Given the description of an element on the screen output the (x, y) to click on. 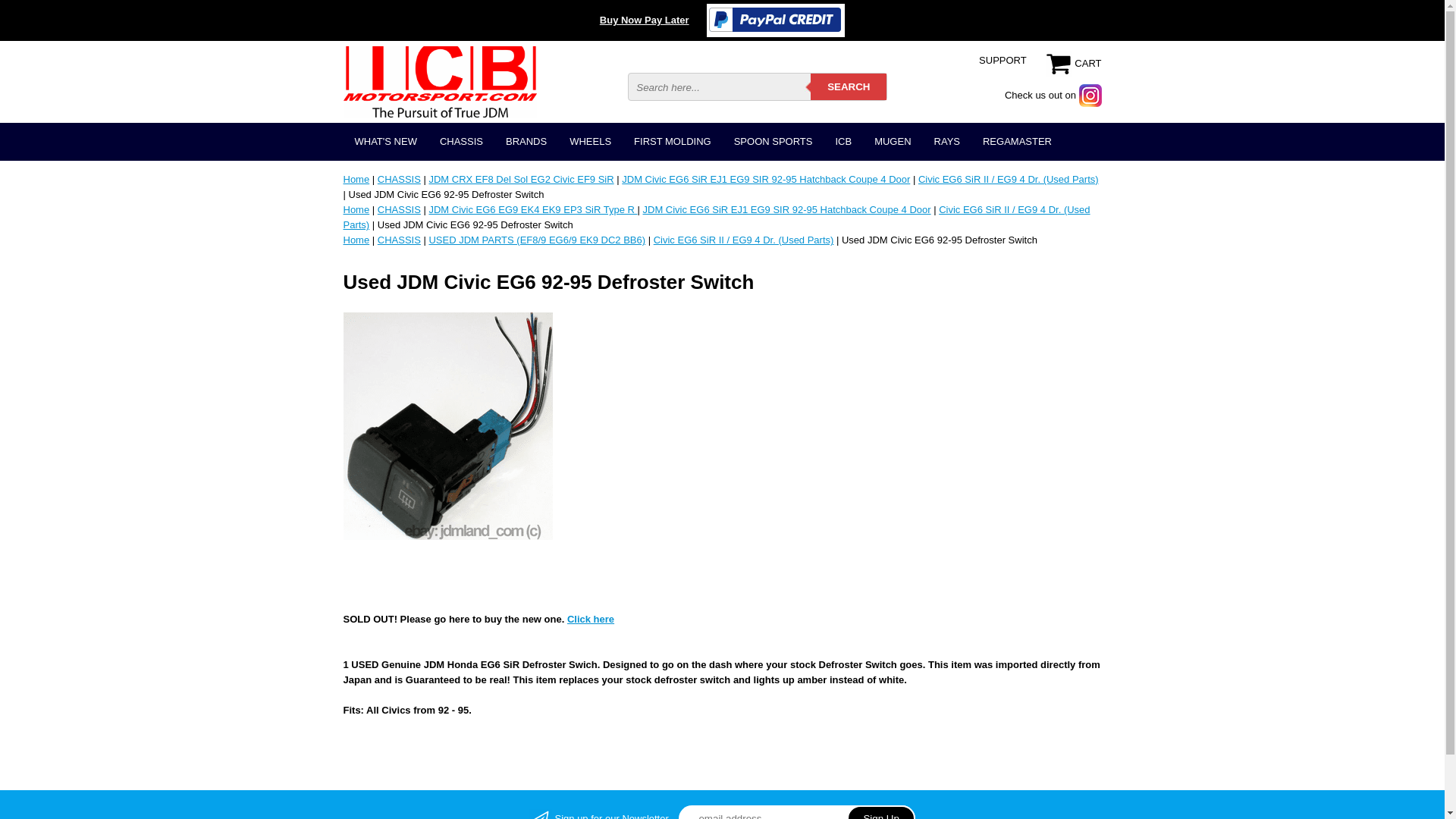
CART (1073, 62)
SEARCH (848, 86)
SUPPORT (1002, 60)
SEARCH (848, 86)
ICBMOTORSPORT.COM (438, 81)
Buy Now Pay Later (643, 19)
Instagram (1053, 93)
Check us out on (1053, 93)
Support (1002, 60)
SEARCH (848, 86)
WHAT'S NEW (385, 141)
Sign Up (881, 812)
